Given the description of an element on the screen output the (x, y) to click on. 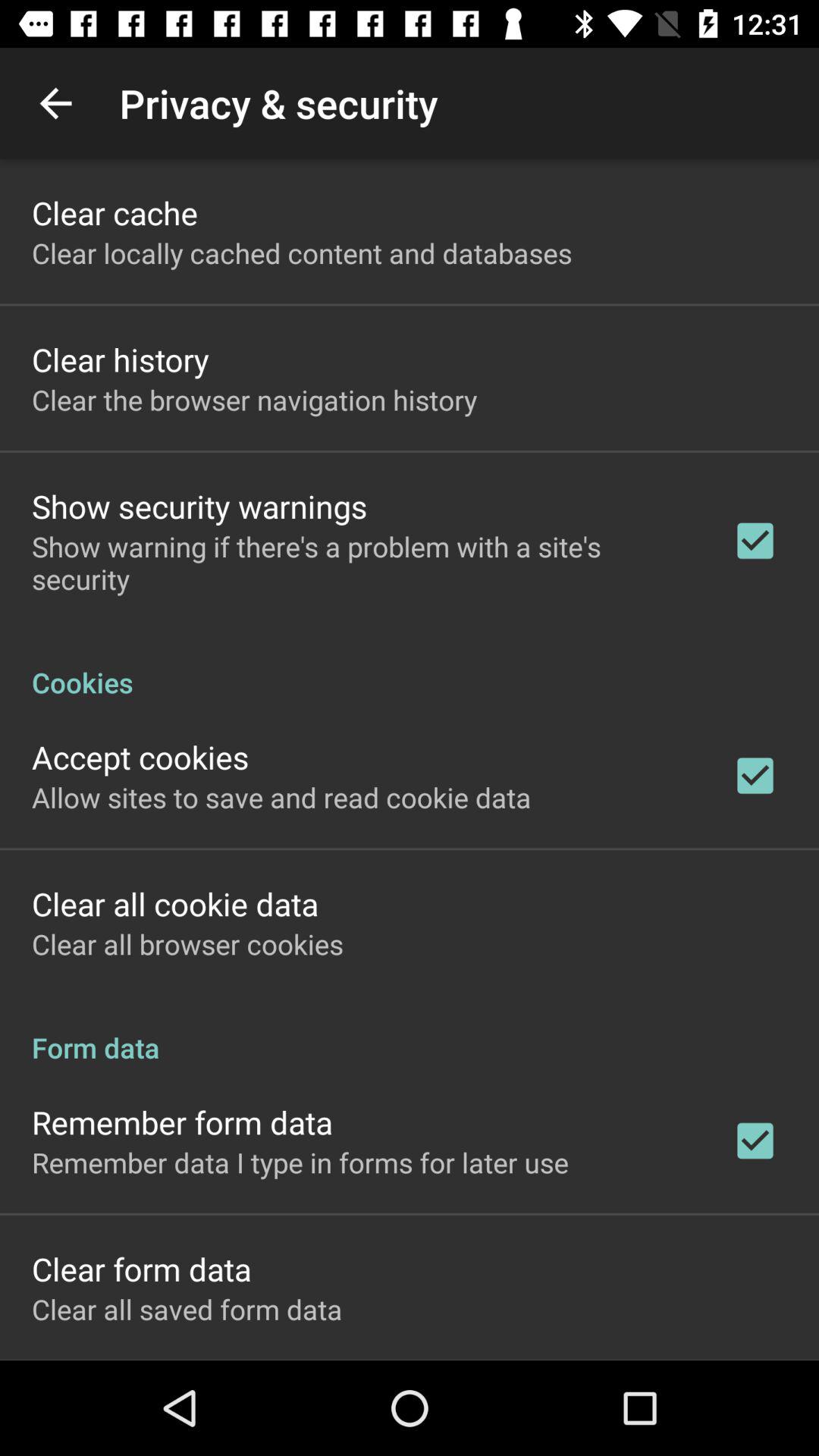
scroll to the clear cache (114, 212)
